Given the description of an element on the screen output the (x, y) to click on. 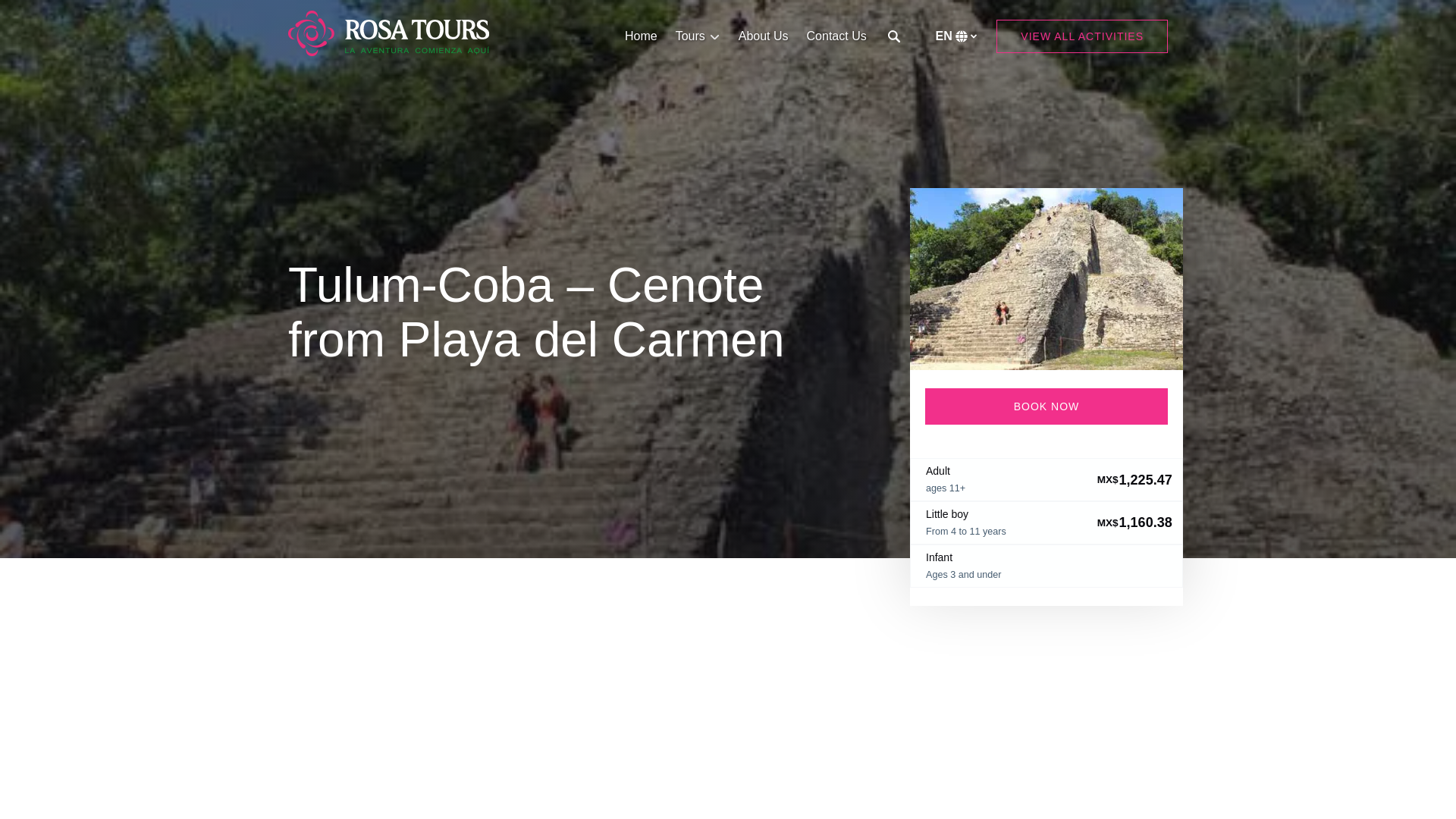
Home (640, 35)
Skip to content (47, 16)
VIEW ALL ACTIVITIES (1081, 36)
BOOK NOW (1045, 406)
Skip to footer (42, 16)
Skip to primary navigation (77, 16)
Open Tours Menu (701, 32)
Tours (697, 35)
About Us (763, 35)
Contact Us (836, 35)
